Given the description of an element on the screen output the (x, y) to click on. 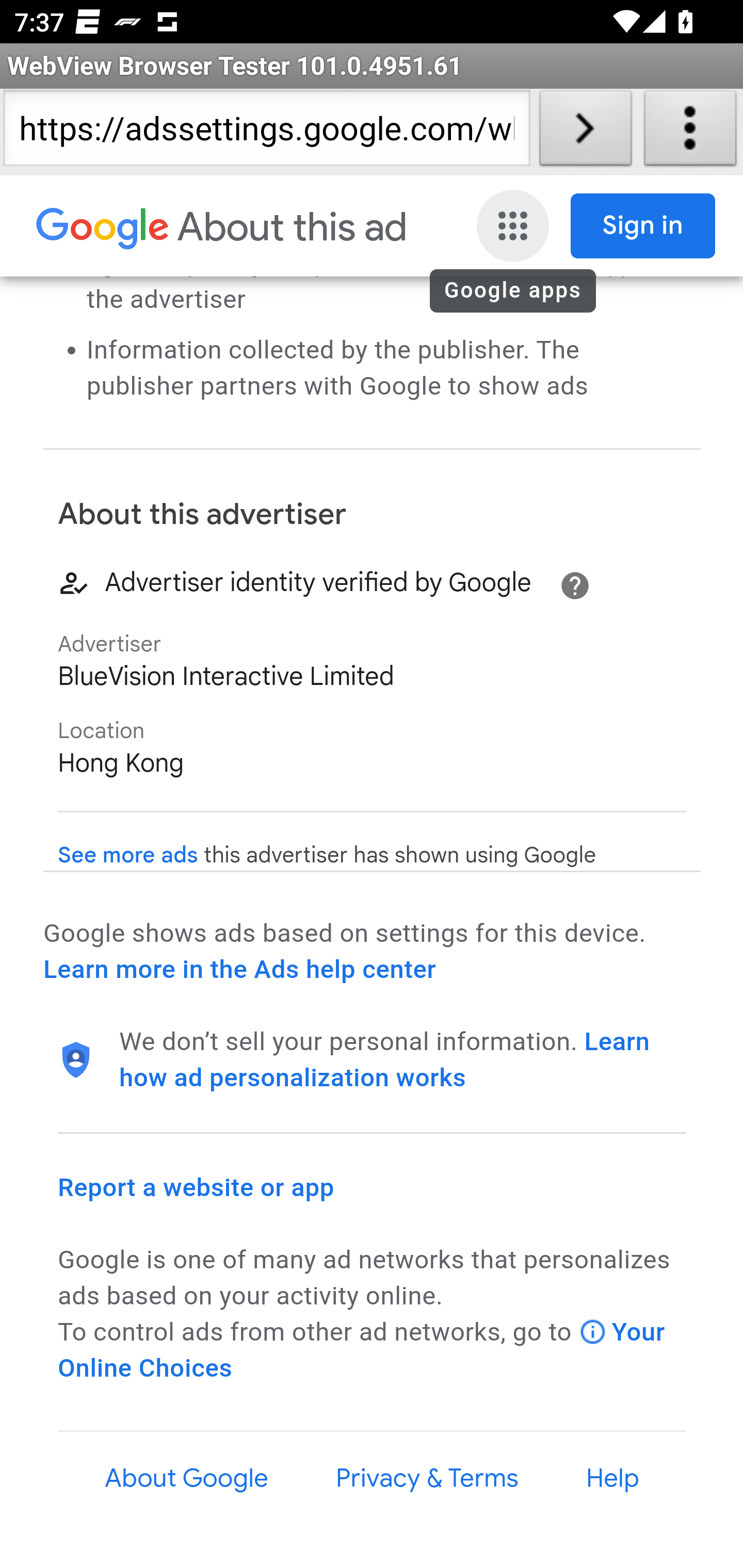
https://adssettings.google.com/whythisad (266, 132)
Load URL (585, 132)
About WebView (690, 132)
Google apps (514, 226)
Sign in (643, 226)
See more ads (opens in new tab) See more ads (127, 856)
Learn more in the Ads help center (239, 969)
Learn how ad personalization works (384, 1059)
Report a website or app (196, 1187)
Your Online Choices (361, 1349)
About Google (186, 1478)
Privacy & Terms (426, 1478)
Help (612, 1478)
